Given the description of an element on the screen output the (x, y) to click on. 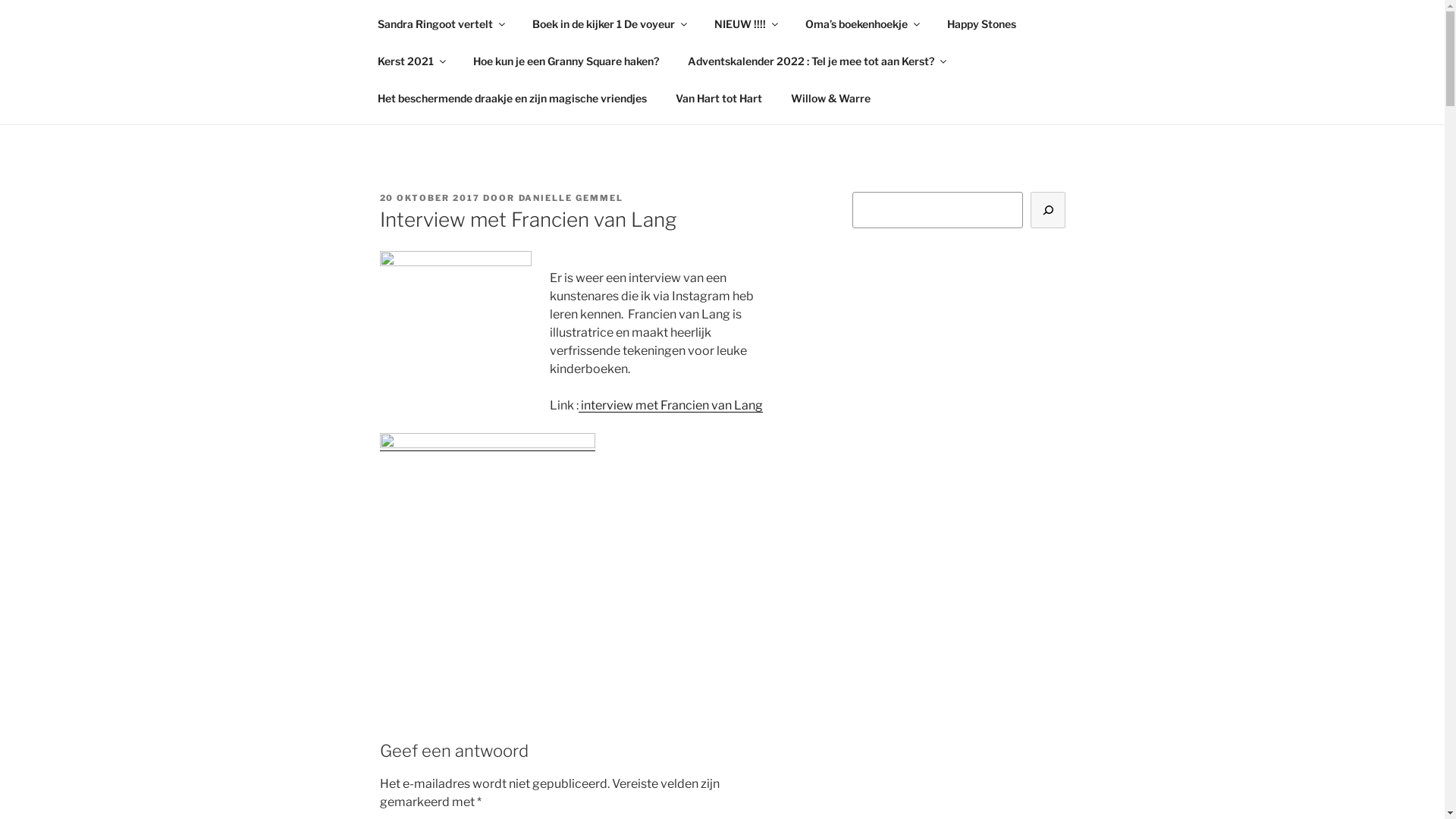
Willow & Warre Element type: text (831, 97)
Het beschermende draakje en zijn magische vriendjes Element type: text (511, 97)
interview met Francien van Lang Element type: text (669, 405)
Van Hart tot Hart Element type: text (718, 97)
Boek in de kijker 1 De voyeur Element type: text (608, 22)
Kerst 2021 Element type: text (410, 60)
BOOKSANDWORDS.BE Element type: text (553, 52)
Sandra Ringoot vertelt Element type: text (440, 22)
Adventskalender 2022 : Tel je mee tot aan Kerst? Element type: text (816, 60)
NIEUW !!!! Element type: text (744, 22)
Happy Stones Element type: text (981, 22)
DANIELLE GEMMEL Element type: text (571, 197)
20 OKTOBER 2017 Element type: text (429, 197)
Hoe kun je een Granny Square haken? Element type: text (565, 60)
